Given the description of an element on the screen output the (x, y) to click on. 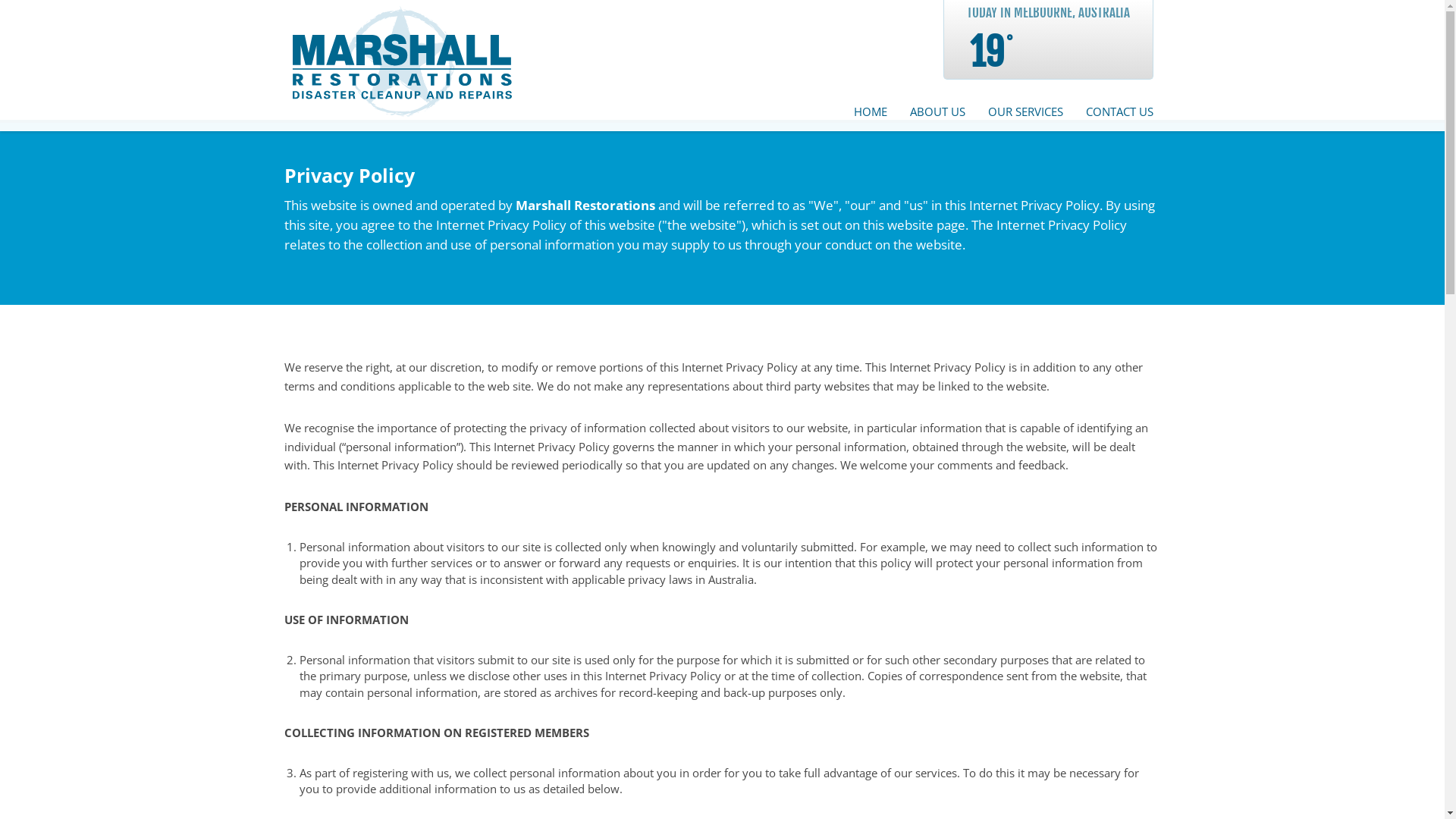
HOME Element type: text (869, 112)
ABOUT US Element type: text (936, 112)
OUR SERVICES Element type: text (1025, 112)
CONTACT US Element type: text (1112, 112)
